Given the description of an element on the screen output the (x, y) to click on. 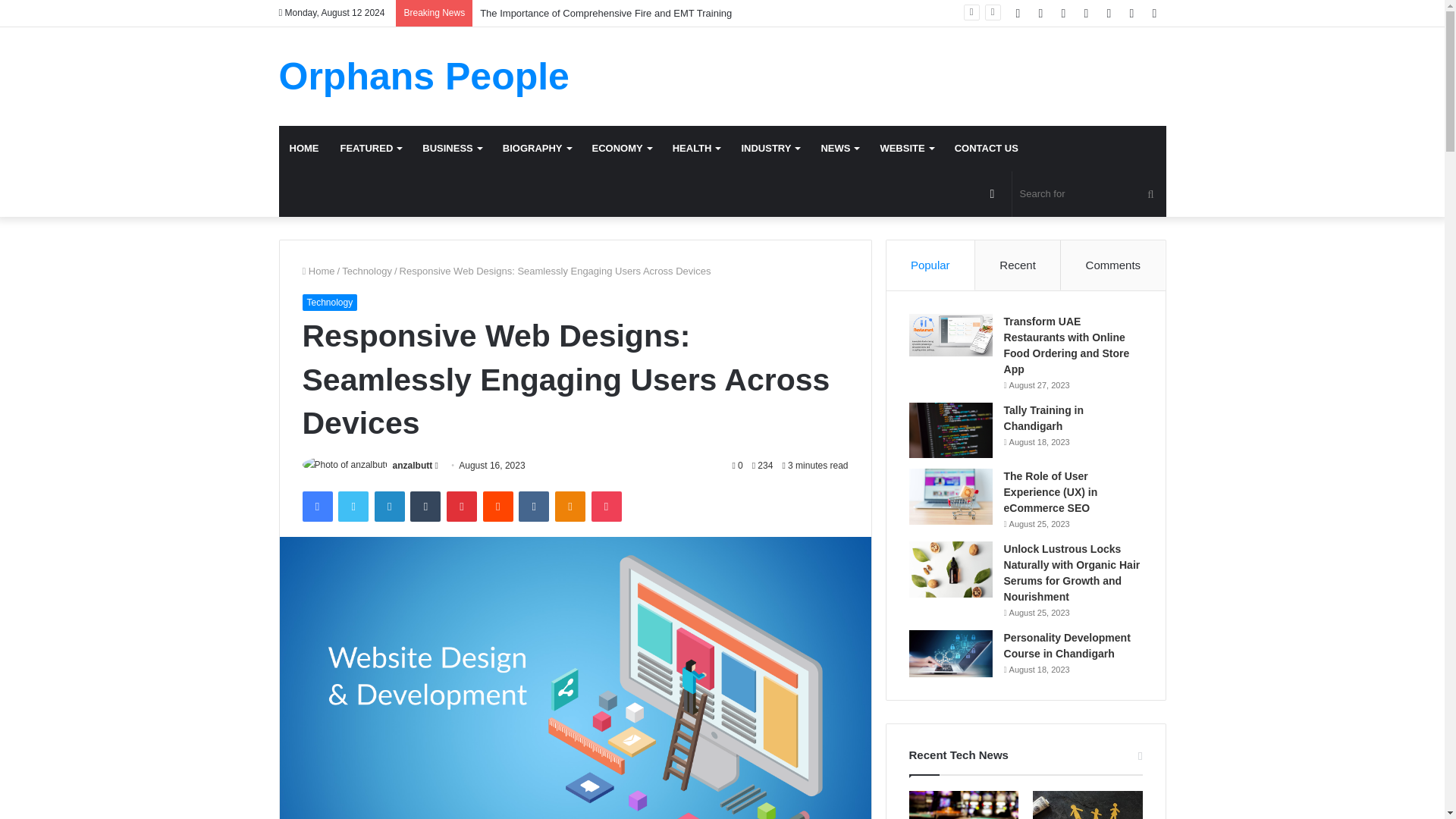
ECONOMY (621, 148)
VKontakte (533, 506)
BIOGRAPHY (536, 148)
The Importance of Comprehensive Fire and EMT Training (606, 12)
Pinterest (461, 506)
Tumblr (425, 506)
HEALTH (696, 148)
Facebook (316, 506)
Reddit (498, 506)
LinkedIn (389, 506)
